Given the description of an element on the screen output the (x, y) to click on. 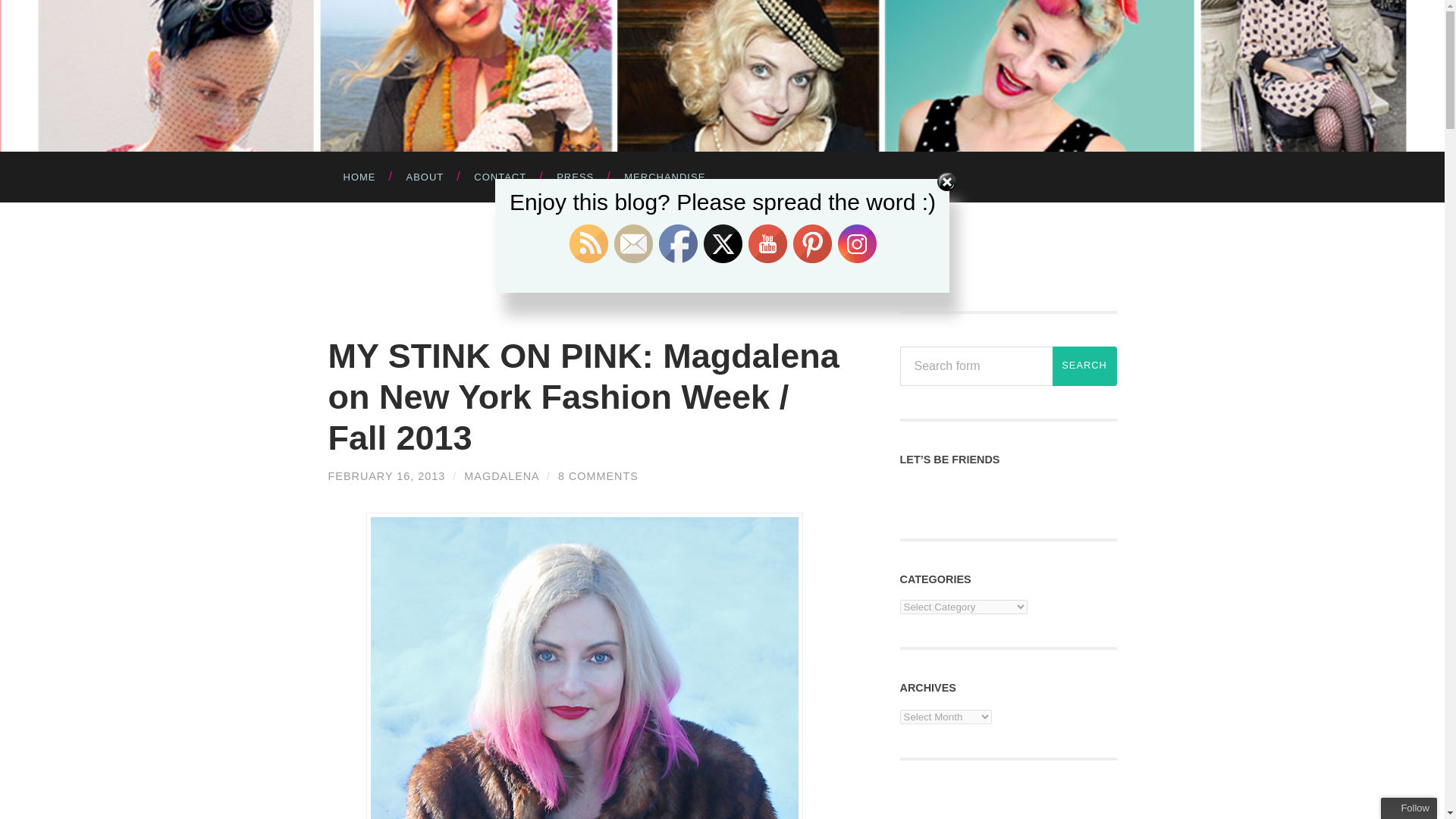
MAGDALENA (501, 476)
Posts by Magdalena (501, 476)
8 COMMENTS (598, 476)
ABOUT (425, 176)
MERCHANDISE (664, 176)
HOME (358, 176)
FEBRUARY 16, 2013 (386, 476)
Search (1084, 365)
CONTACT (499, 176)
PRESS (574, 176)
